Given the description of an element on the screen output the (x, y) to click on. 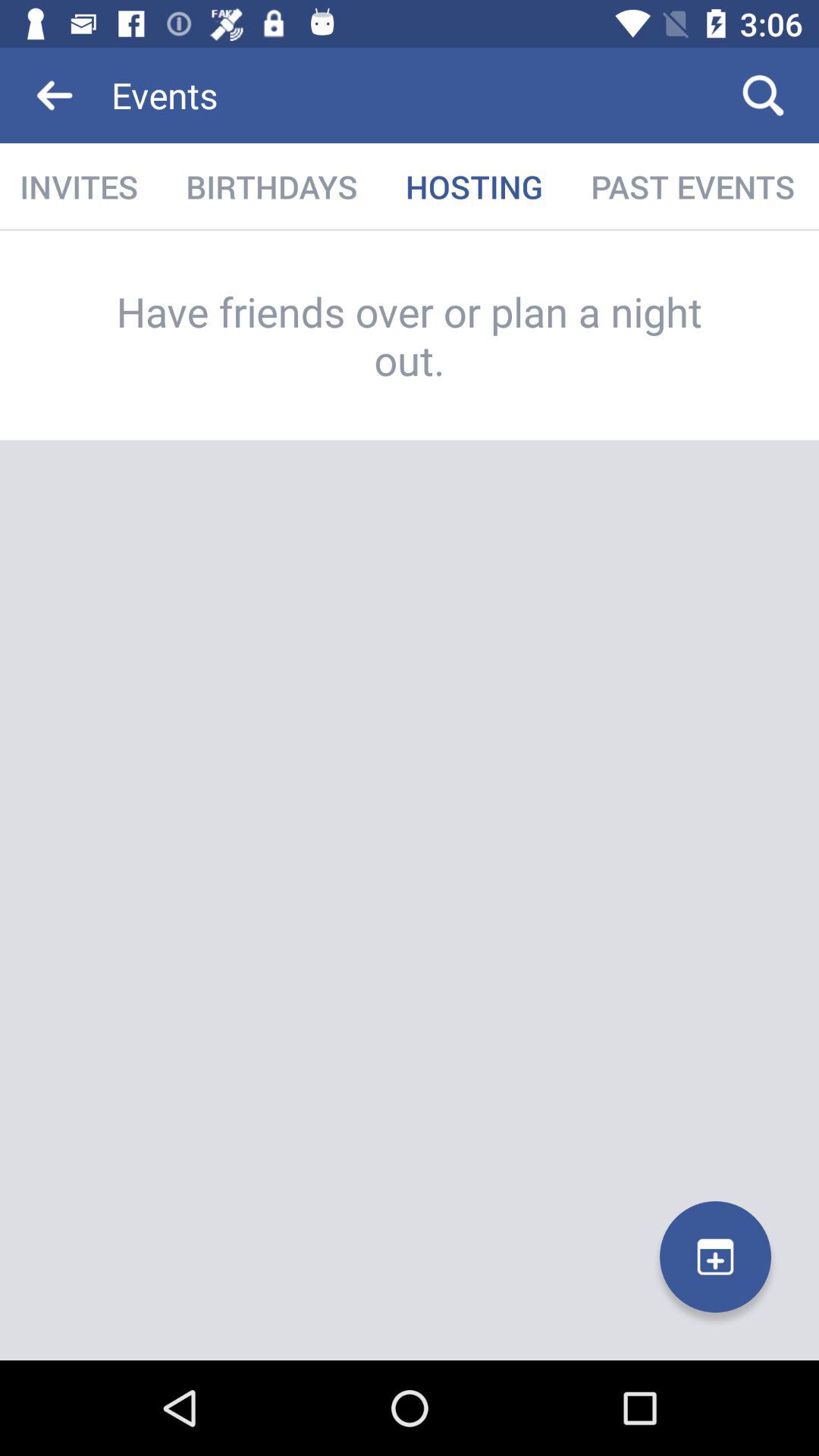
tap icon to the left of the events icon (55, 95)
